Given the description of an element on the screen output the (x, y) to click on. 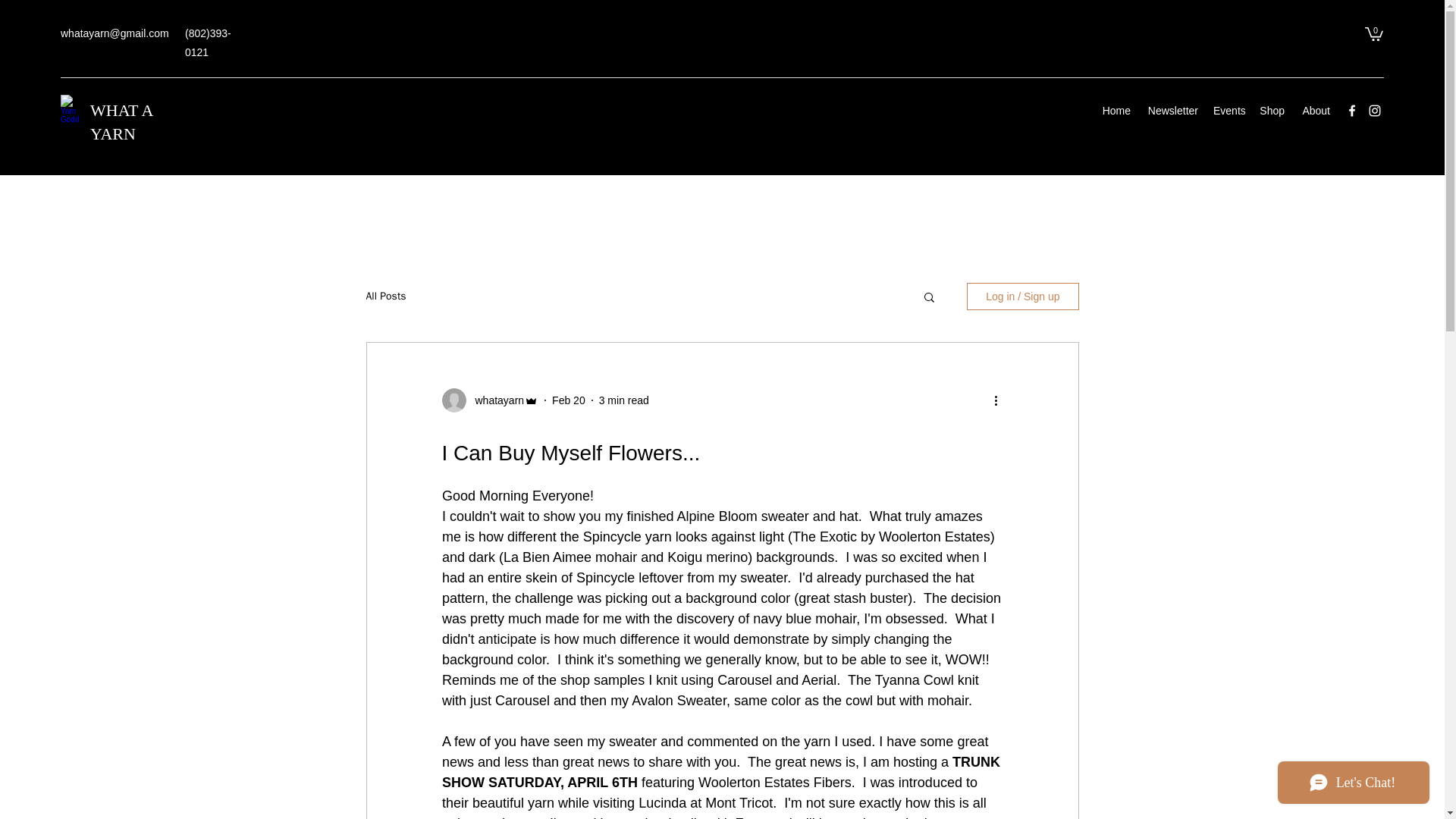
All Posts (385, 296)
Feb 20 (568, 399)
About (1315, 110)
Newsletter (1171, 110)
whatayarn (494, 400)
0 (1374, 32)
Home (1116, 110)
Shop (1272, 110)
0 (1374, 32)
WHAT A YARN (121, 121)
3 min read (623, 399)
Events (1228, 110)
